Given the description of an element on the screen output the (x, y) to click on. 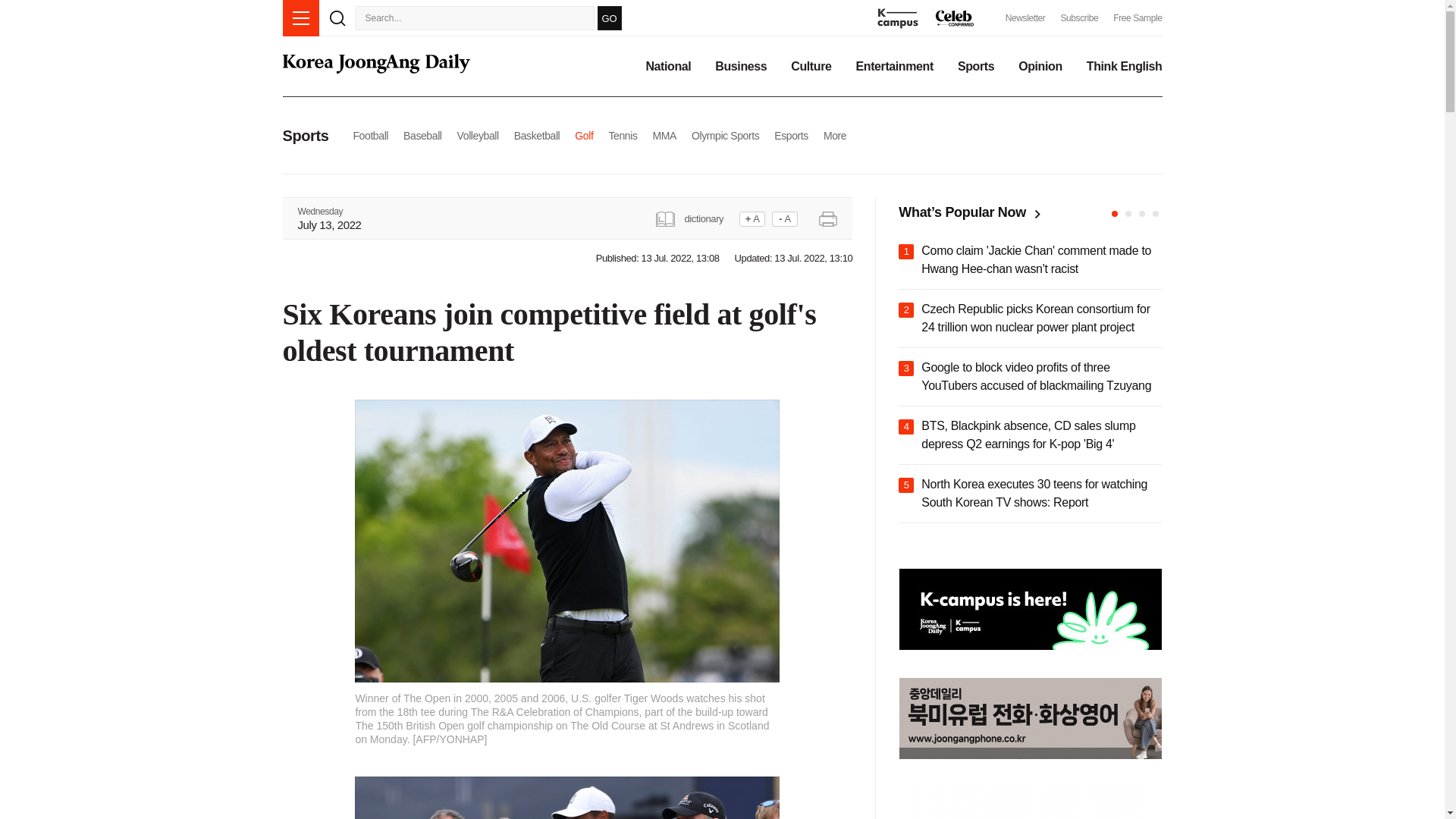
Basketball (536, 135)
GO (608, 17)
Basketball (536, 135)
Tennis (622, 135)
More (834, 135)
MMA (663, 135)
Culture (810, 66)
National (667, 66)
Esports (791, 135)
Golf (583, 135)
Free Sample (1137, 18)
Football (370, 135)
Baseball (422, 135)
Olympic Sports (724, 135)
Volleyball (478, 135)
